Given the description of an element on the screen output the (x, y) to click on. 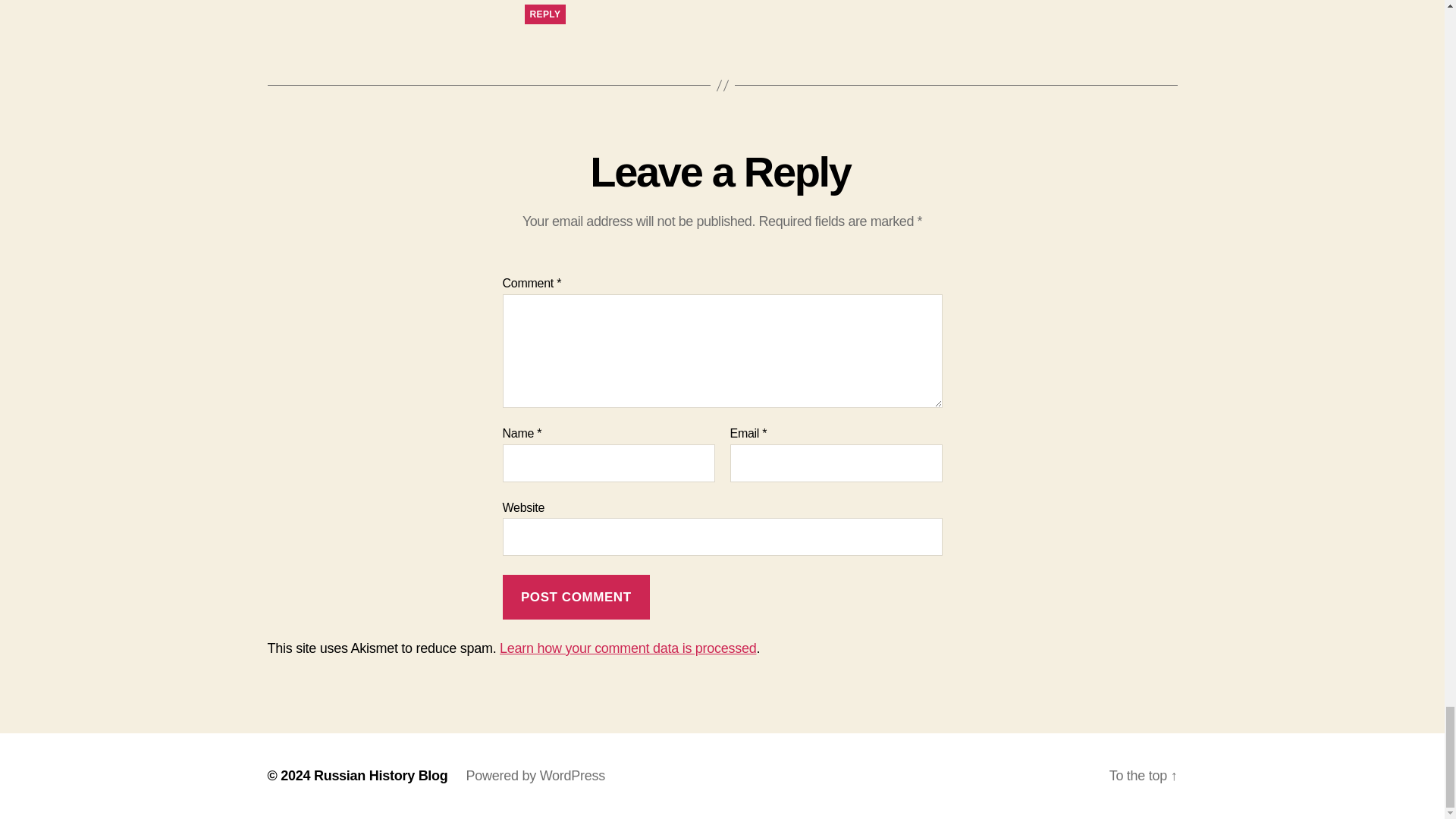
Post Comment (575, 596)
REPLY (545, 14)
